Given the description of an element on the screen output the (x, y) to click on. 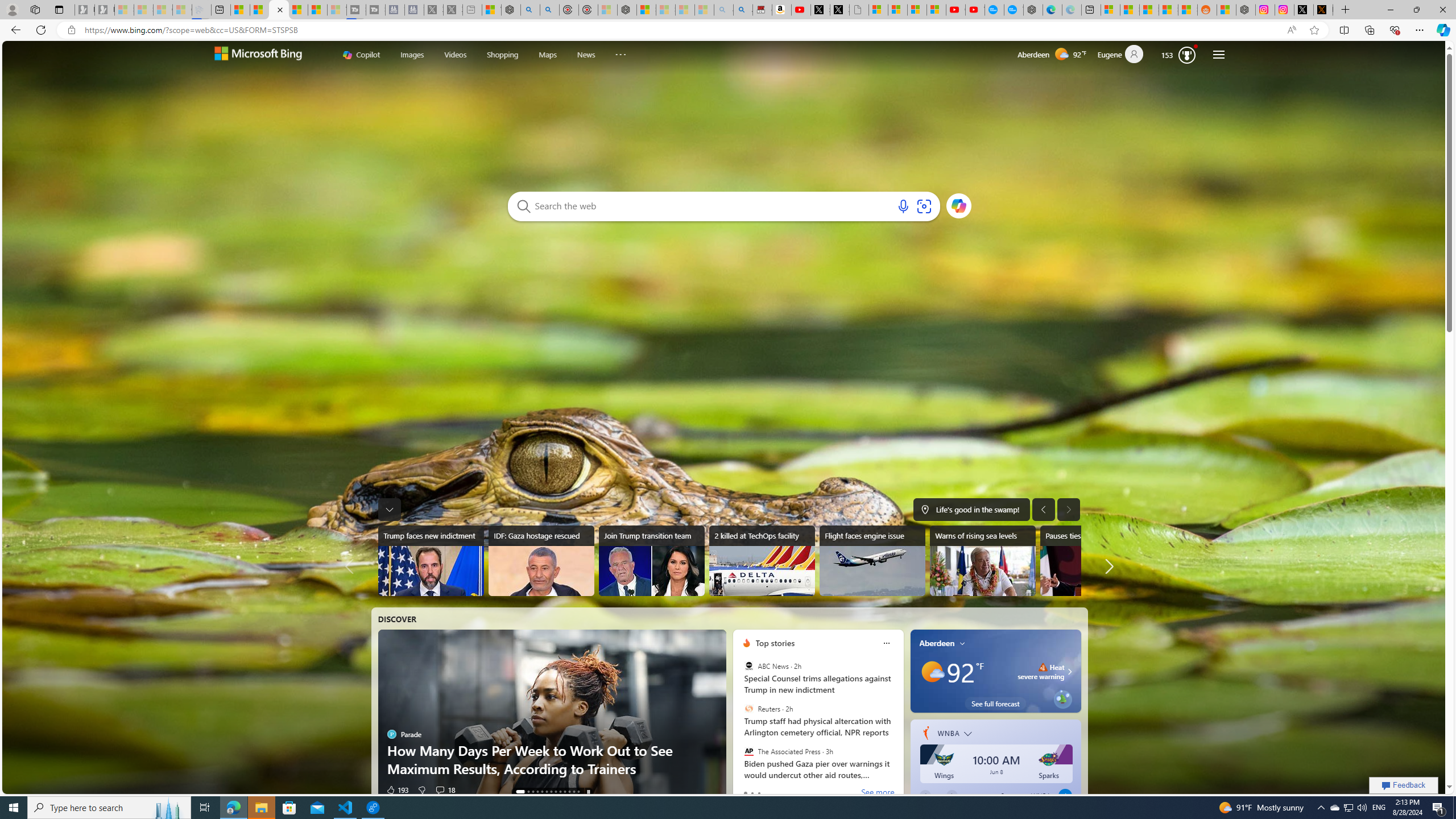
Newsletter Sign Up - Sleeping (104, 9)
Class: medal-circled (1186, 54)
AutomationID: tab-0 (517, 791)
Read aloud this page (Ctrl+Shift+U) (1291, 29)
Microsoft Rewards 153 (1178, 54)
drop down (970, 735)
AutomationID: tab-5 (546, 791)
Microsoft account | Microsoft Account Privacy Settings (1110, 9)
